Given the description of an element on the screen output the (x, y) to click on. 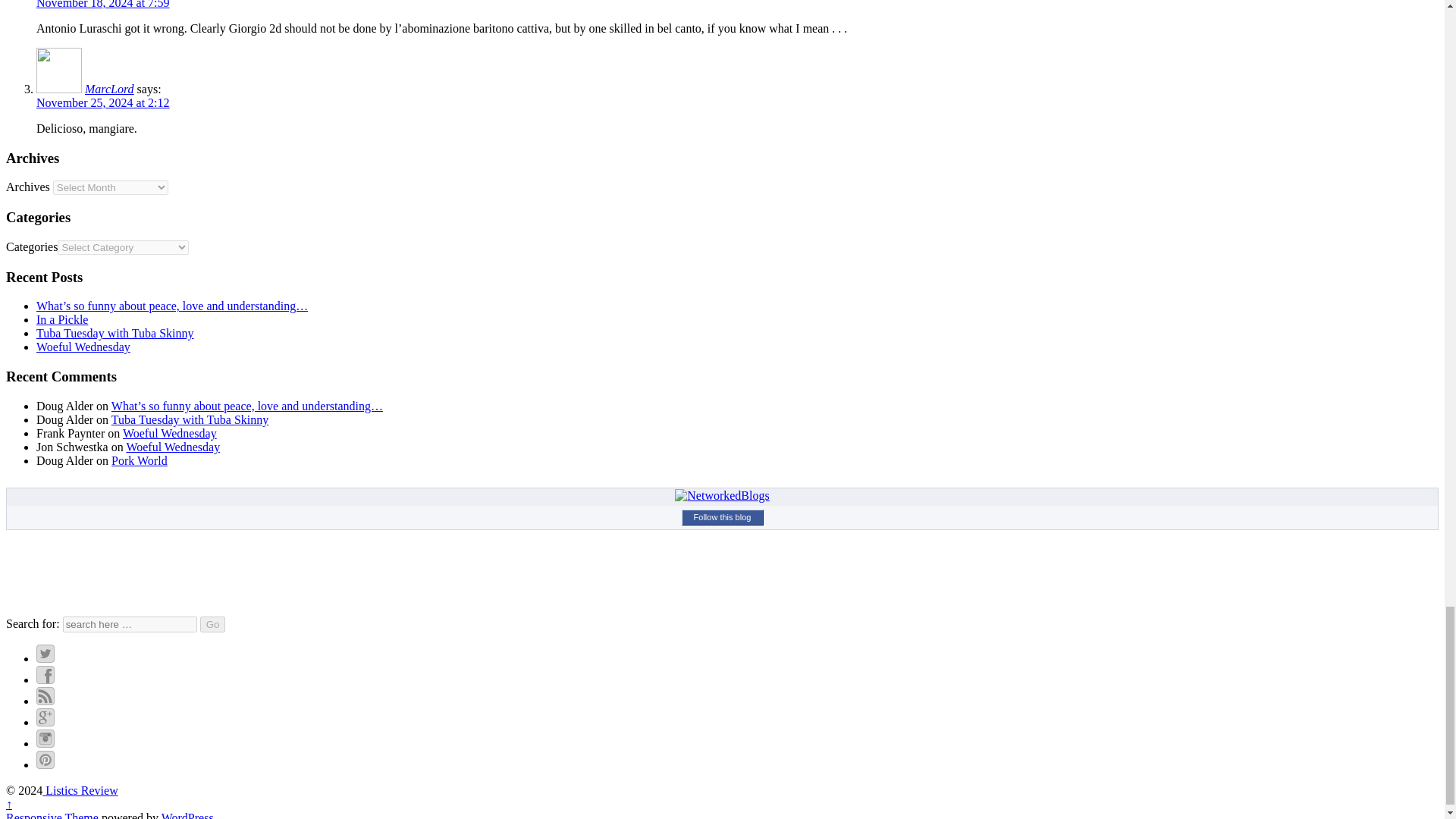
Listics Review (79, 789)
Follow this blog (721, 517)
MarcLord (108, 88)
Pork World (139, 460)
Tuba Tuesday with Tuba Skinny (114, 332)
Tuba Tuesday with Tuba Skinny (189, 419)
November 25, 2024 at 2:12 (103, 102)
Woeful Wednesday (83, 346)
November 18, 2024 at 7:59 (103, 4)
Go (212, 624)
